Given the description of an element on the screen output the (x, y) to click on. 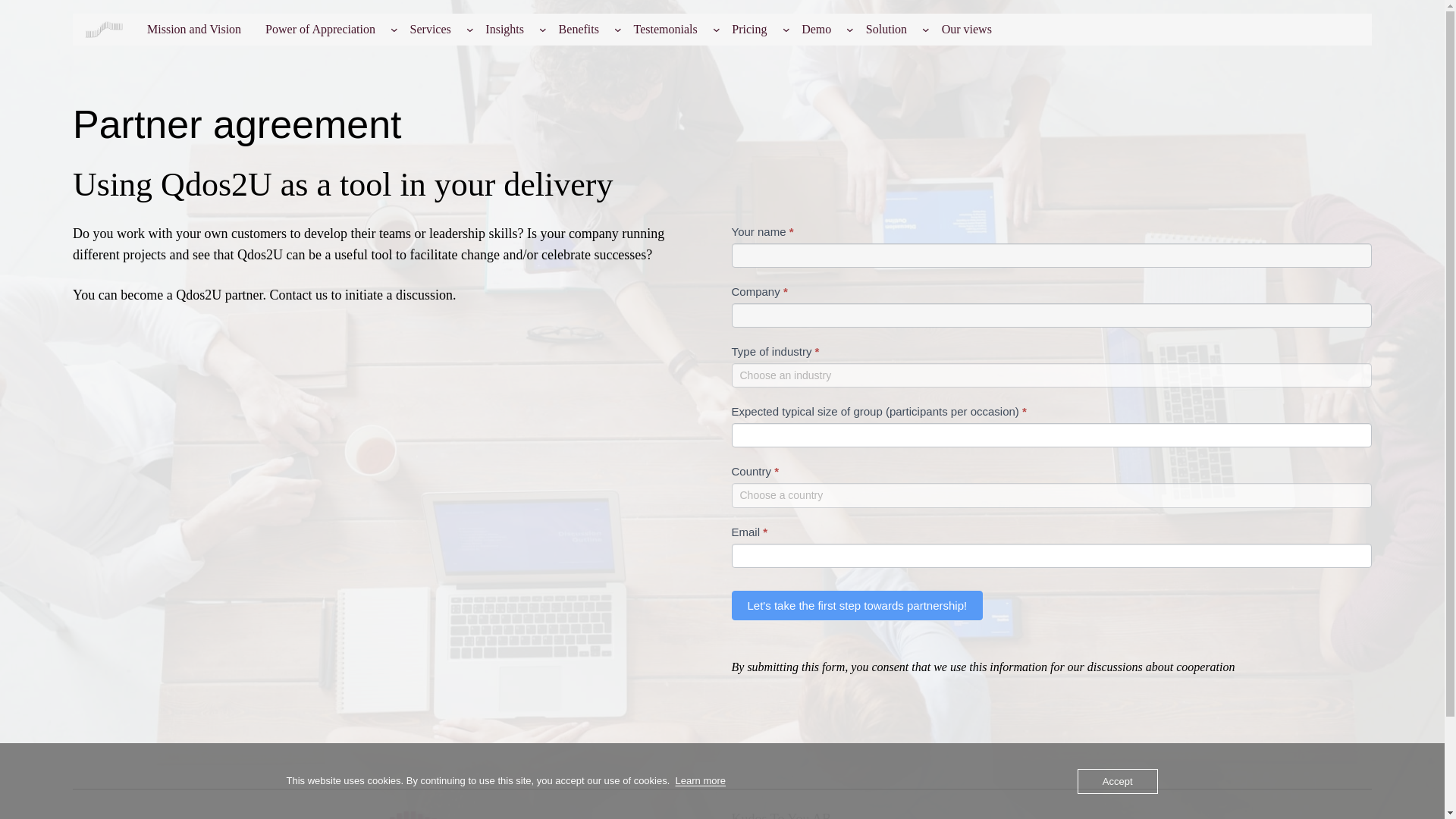
Mission and Vision (194, 29)
Solution (885, 29)
Benefits (579, 29)
Pricing (748, 29)
Accept (1117, 781)
Let's take the first step towards partnership! (856, 604)
Testemonials (665, 29)
Services (430, 29)
Our views (967, 29)
Power of Appreciation (320, 29)
Demo (816, 29)
Insights (504, 29)
Learn more (700, 780)
